Given the description of an element on the screen output the (x, y) to click on. 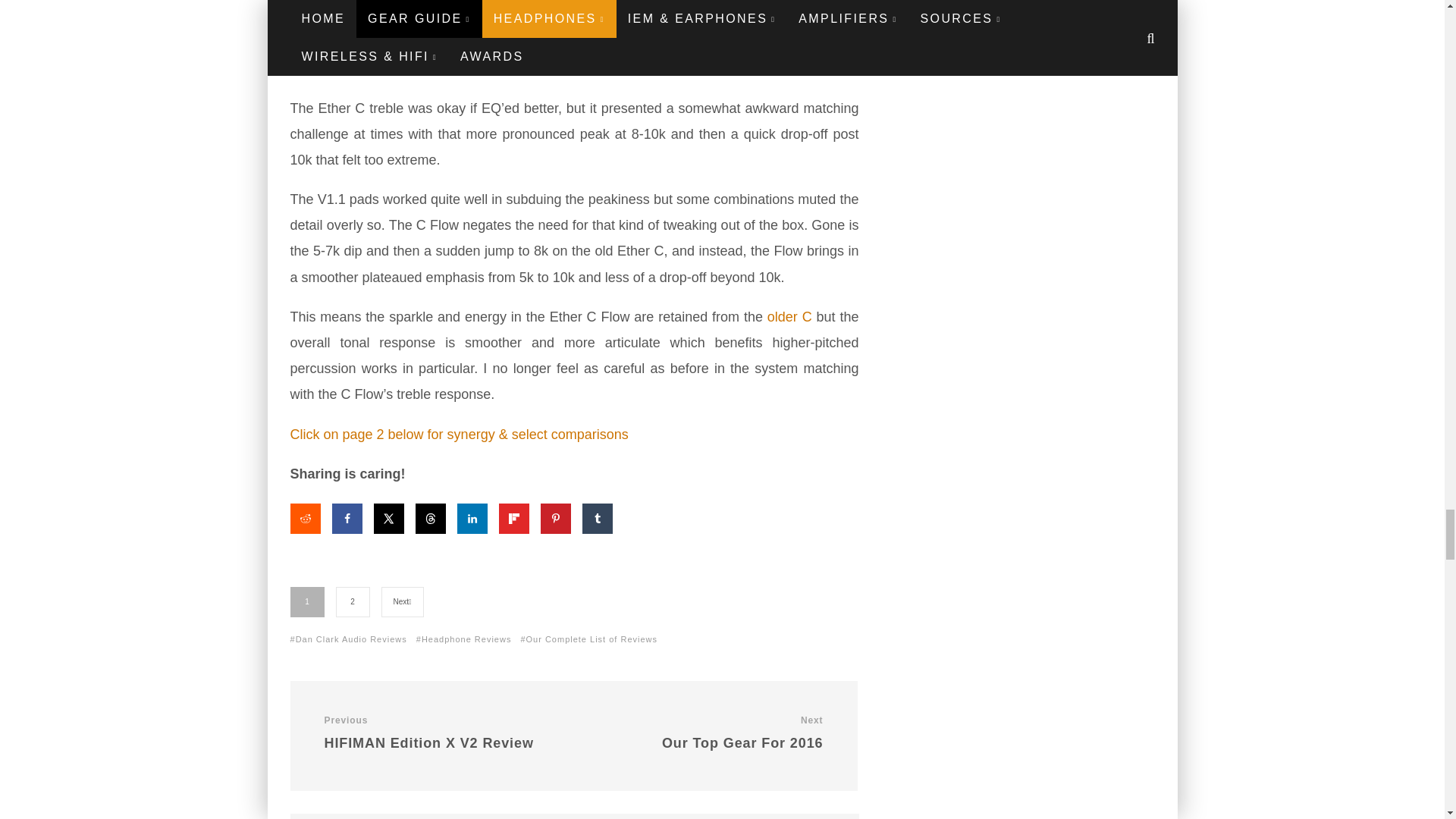
Share on Threads (429, 518)
Save to Pinterest (555, 518)
Share on X (387, 518)
Share on Facebook (346, 518)
Share on Reddit (304, 518)
Share on Tumblr (597, 518)
Share on LinkedIn (471, 518)
Share on Flipboard (514, 518)
